Given the description of an element on the screen output the (x, y) to click on. 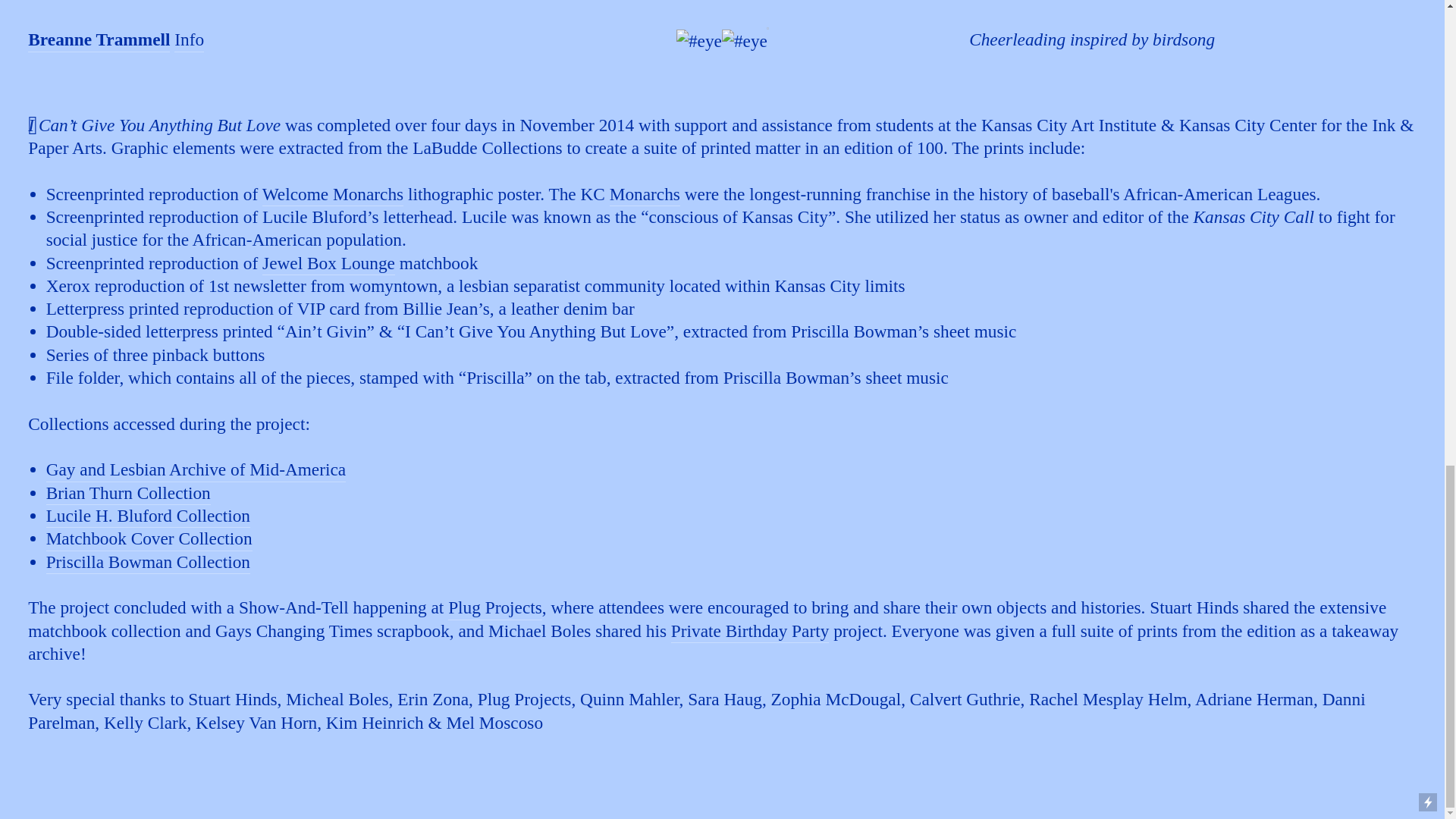
Matchbook Cover Collection (148, 539)
Monarchs (644, 195)
Lucile H. Bluford Collection (148, 516)
Welcome Monarchs (333, 195)
Gay and Lesbian Archive of Mid-America (196, 470)
Private Birthday Party (749, 631)
Jewel Box Lounge (328, 264)
Plug Projects (494, 608)
Brian Thurn Collection (128, 494)
Priscilla Bowman Collection (148, 563)
